Given the description of an element on the screen output the (x, y) to click on. 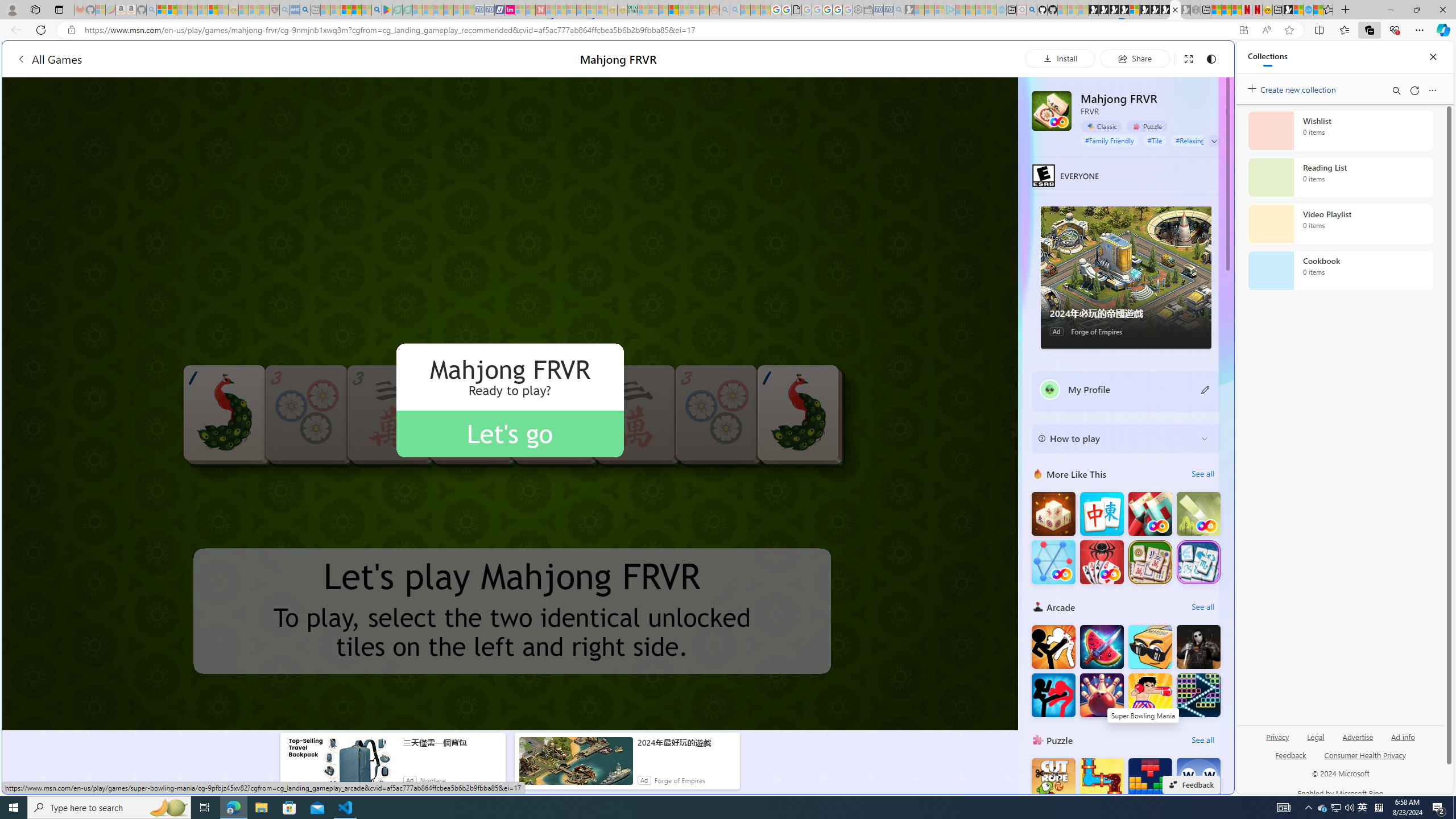
More Like This (1037, 473)
